Given the description of an element on the screen output the (x, y) to click on. 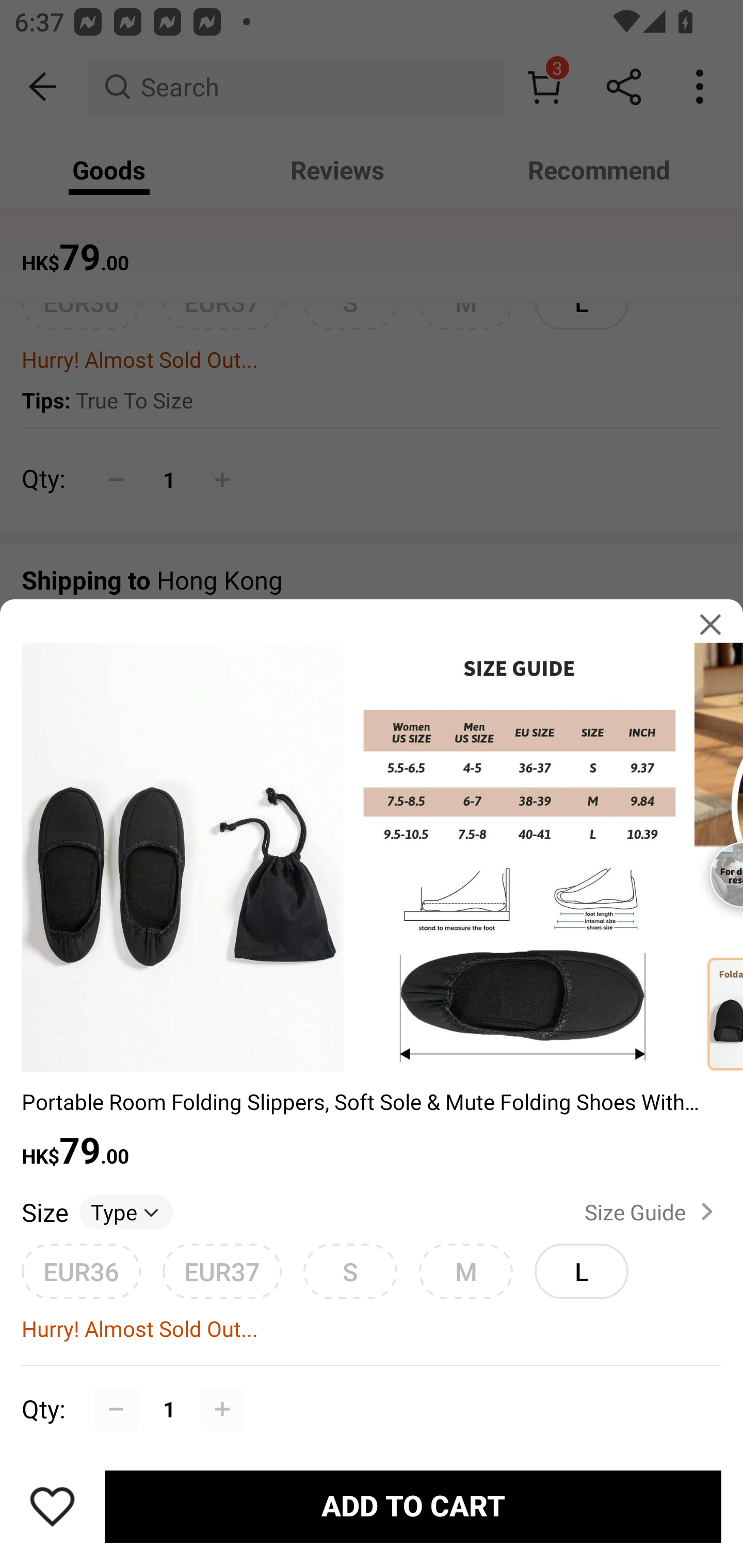
Size (44, 1211)
Type (126, 1211)
Size Guide (652, 1211)
L unselected option (580, 1264)
EUR36 (81, 1271)
EUR37 (221, 1271)
S (350, 1271)
M (465, 1271)
L unselected option (581, 1271)
Hurry! Almost Sold Out... (371, 1328)
ADD TO CART (412, 1506)
Save (52, 1505)
